Given the description of an element on the screen output the (x, y) to click on. 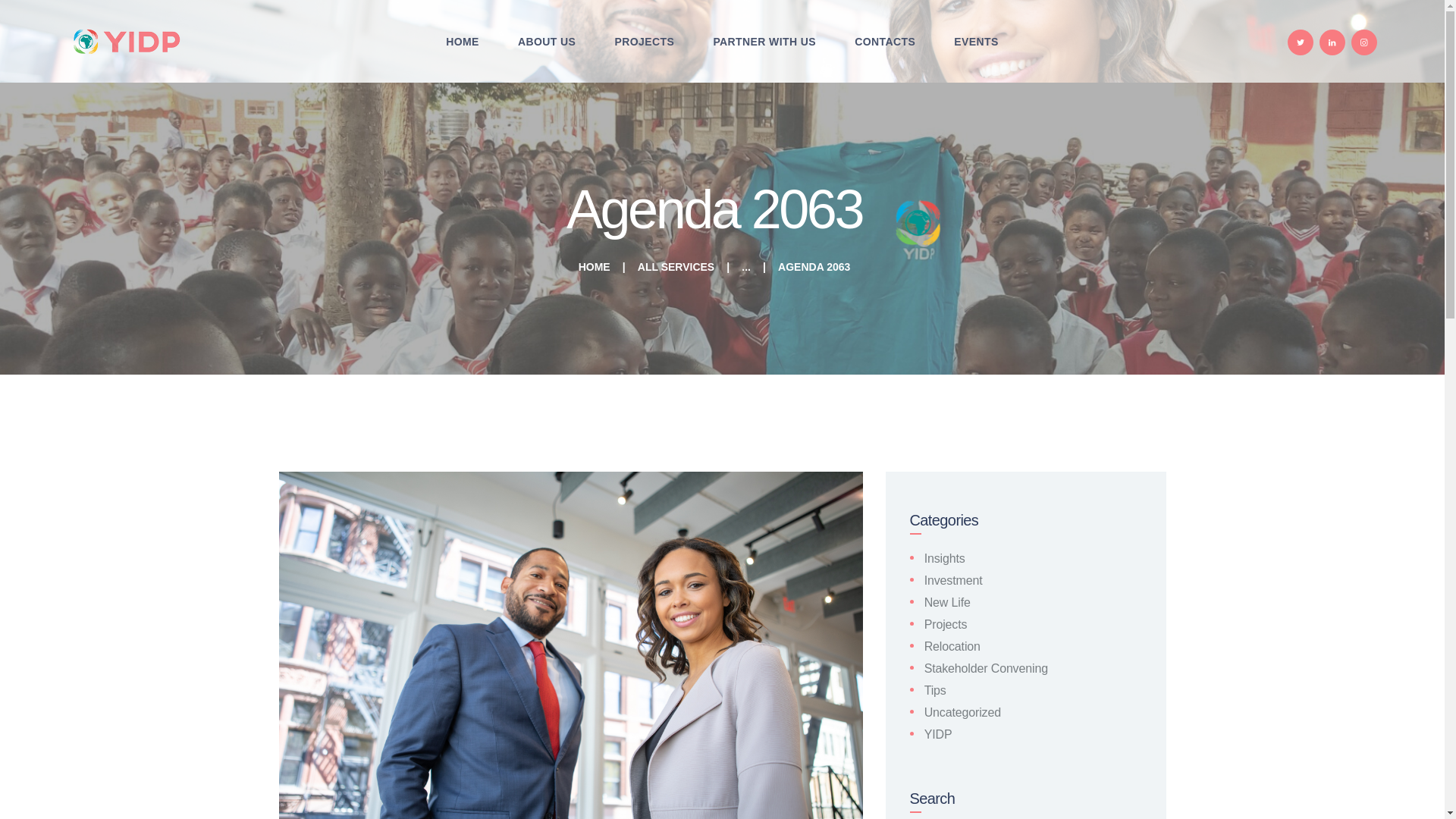
Relocation (951, 645)
Stakeholder Convening (986, 667)
ALL SERVICES (675, 266)
EVENTS (975, 41)
YIDP (938, 734)
CONTACTS (884, 41)
Investment (953, 580)
Uncategorized (962, 712)
Tips (935, 689)
PROJECTS (644, 41)
New Life (947, 602)
HOME (462, 41)
Projects (946, 624)
PARTNER WITH US (764, 41)
ABOUT US (546, 41)
